Given the description of an element on the screen output the (x, y) to click on. 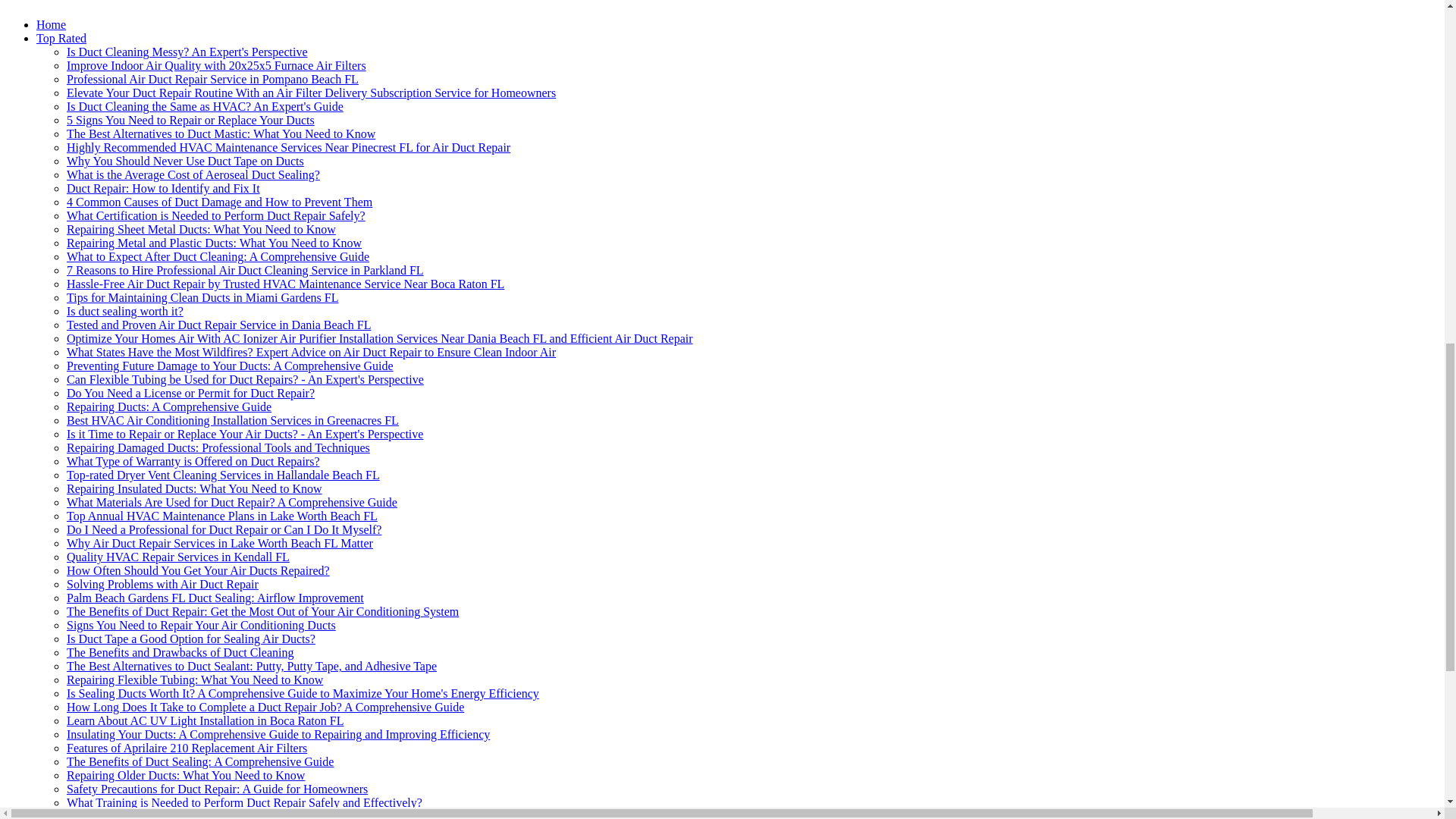
What is the Average Cost of Aeroseal Duct Sealing? (193, 174)
Home (50, 24)
Professional Air Duct Repair Service in Pompano Beach FL (212, 78)
5 Signs You Need to Repair or Replace Your Ducts (190, 119)
Repairing Metal and Plastic Ducts: What You Need to Know (213, 242)
Is Duct Cleaning the Same as HVAC? An Expert's Guide (204, 106)
4 Common Causes of Duct Damage and How to Prevent Them (219, 201)
Duct Repair: How to Identify and Fix It (163, 187)
Repairing Sheet Metal Ducts: What You Need to Know (201, 228)
Why You Should Never Use Duct Tape on Ducts (185, 160)
Is Duct Cleaning Messy? An Expert's Perspective (186, 51)
What Certification is Needed to Perform Duct Repair Safely? (215, 215)
The Best Alternatives to Duct Mastic: What You Need to Know (220, 133)
